Given the description of an element on the screen output the (x, y) to click on. 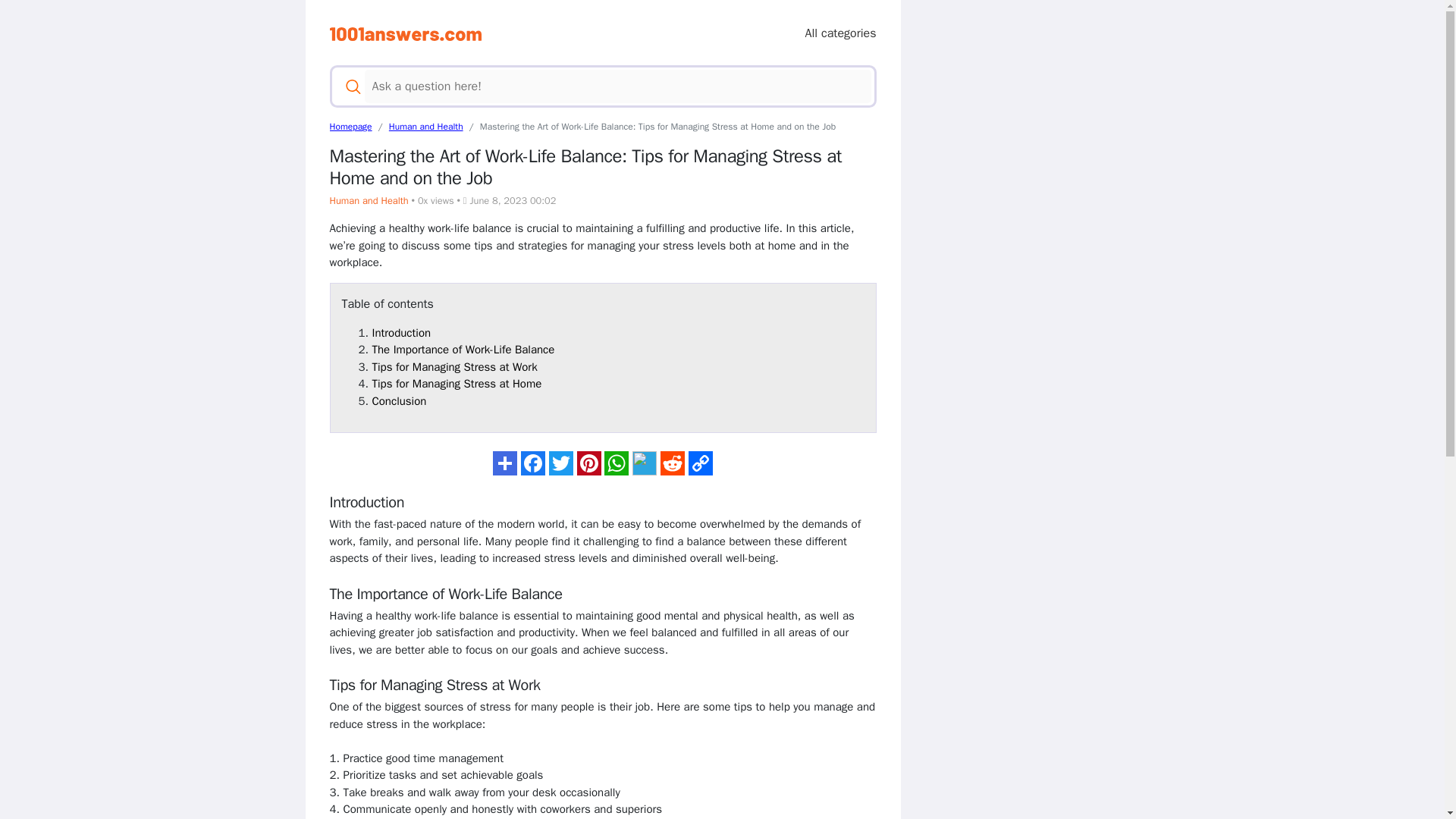
Tips for Managing Stress at Work (454, 366)
Introduction (400, 332)
Tips for Managing Stress at Home (456, 383)
Conclusion (398, 400)
The Importance of Work-Life Balance (462, 349)
Homepage (350, 126)
Human and Health (425, 126)
All categories (840, 32)
Human and Health (368, 200)
